Given the description of an element on the screen output the (x, y) to click on. 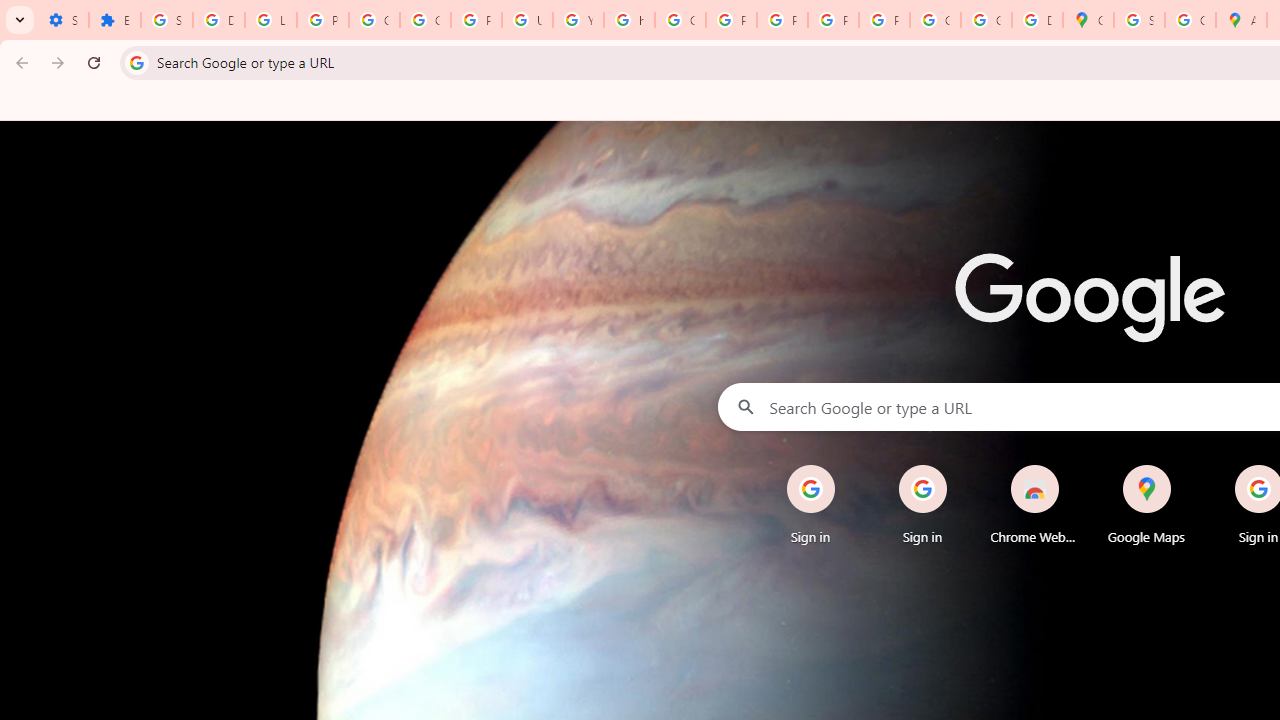
Create your Google Account (1189, 20)
Privacy Help Center - Policies Help (731, 20)
Sign in - Google Accounts (1138, 20)
Settings - On startup (63, 20)
